Given the description of an element on the screen output the (x, y) to click on. 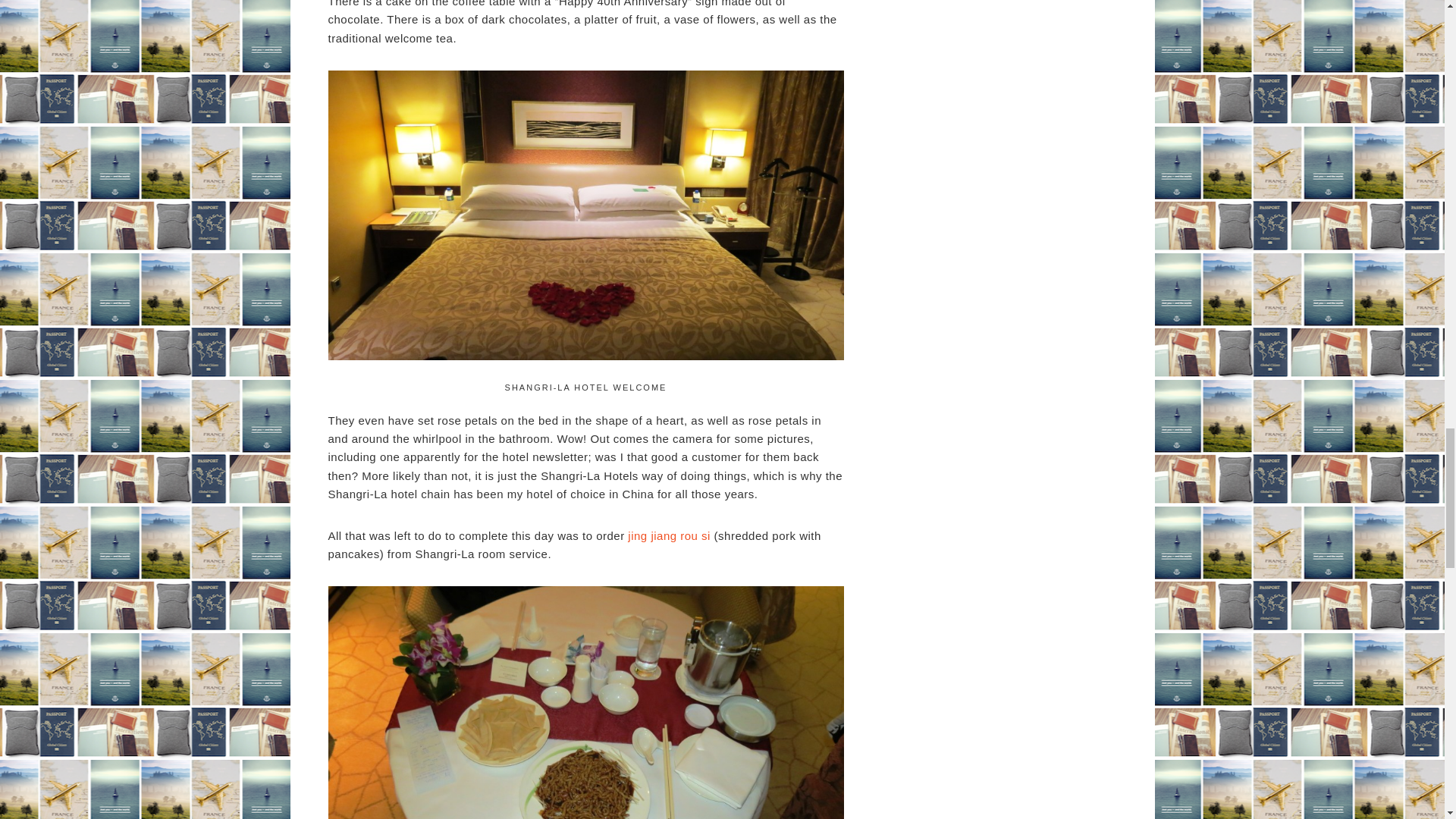
Jin Jiang Rou Si (668, 535)
